Given the description of an element on the screen output the (x, y) to click on. 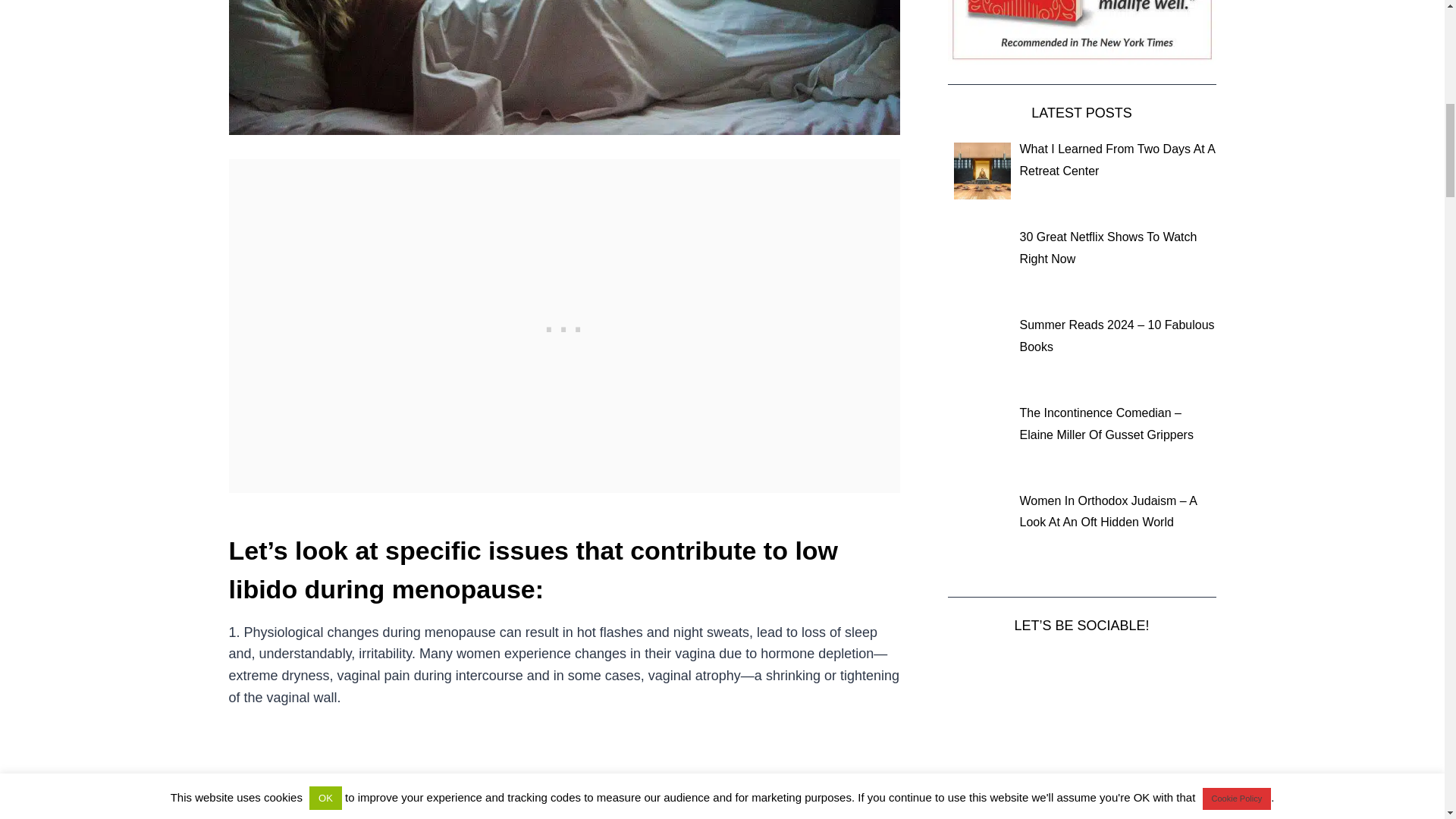
Facebook (1099, 669)
YouTube (1066, 669)
Twitter (1031, 669)
Instagram (997, 669)
Pinterest (1134, 669)
